Given the description of an element on the screen output the (x, y) to click on. 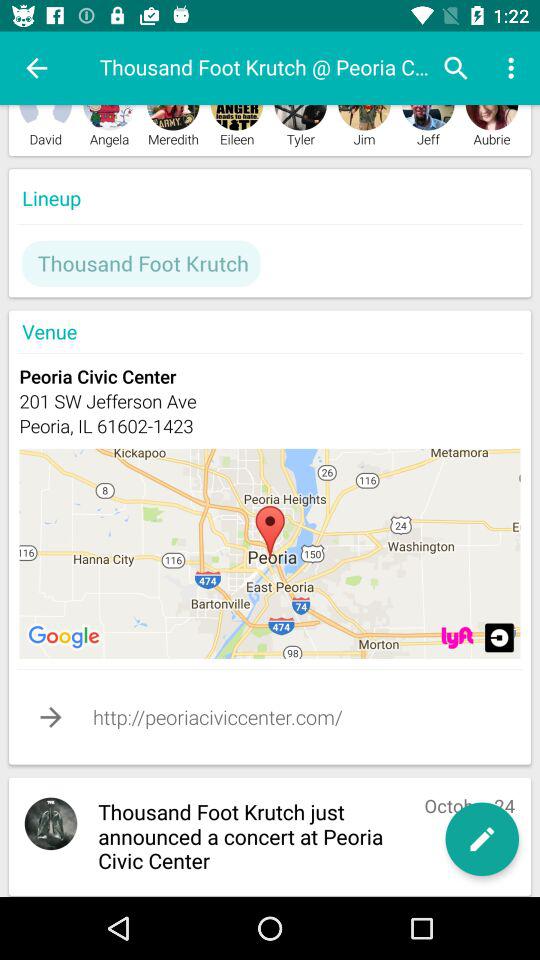
location (457, 637)
